Given the description of an element on the screen output the (x, y) to click on. 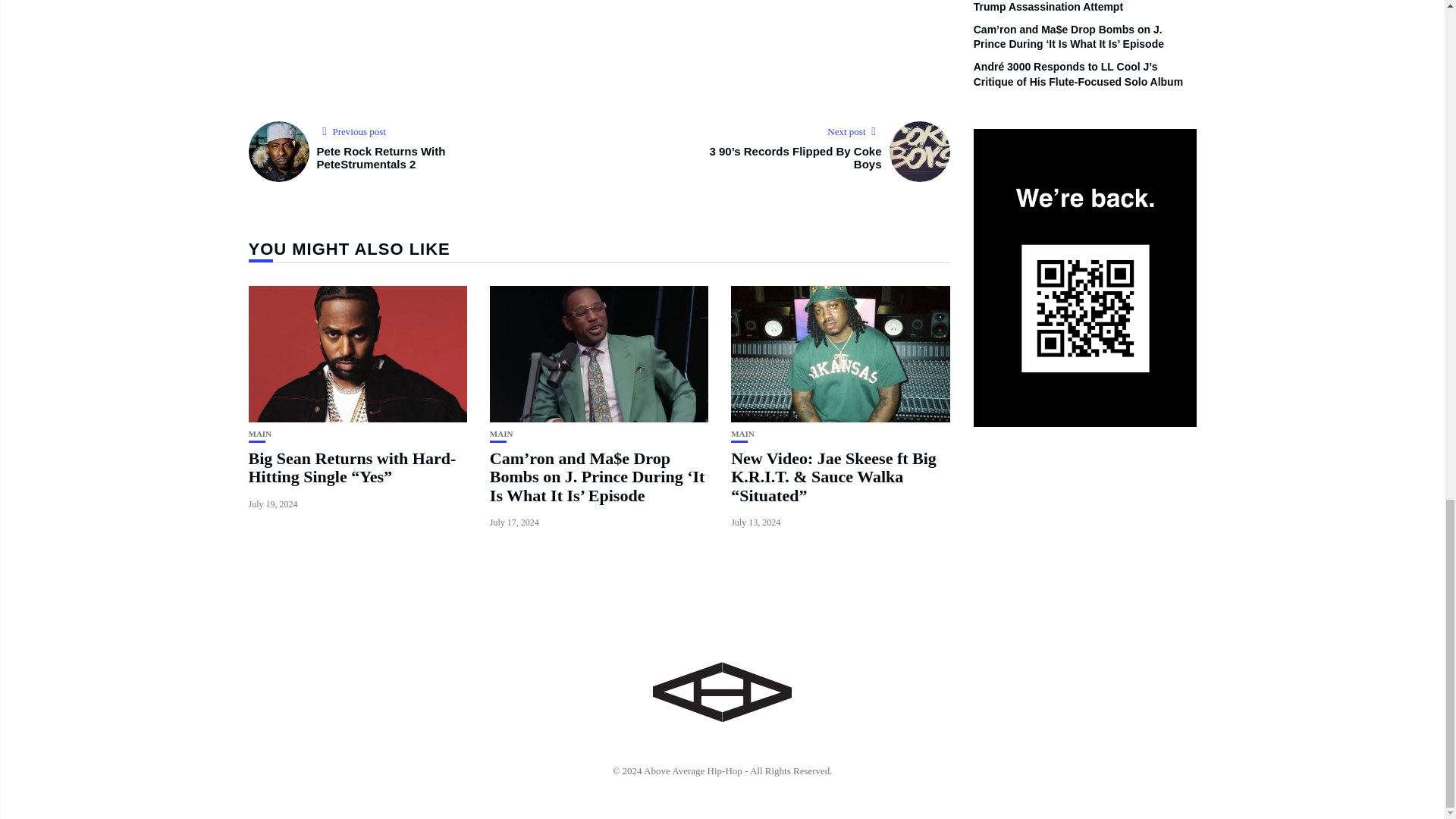
MAIN (742, 433)
MAIN (501, 433)
Skyzoo - Comradery: The Making of "Music For My Friends" (599, 41)
MAIN (260, 433)
